Given the description of an element on the screen output the (x, y) to click on. 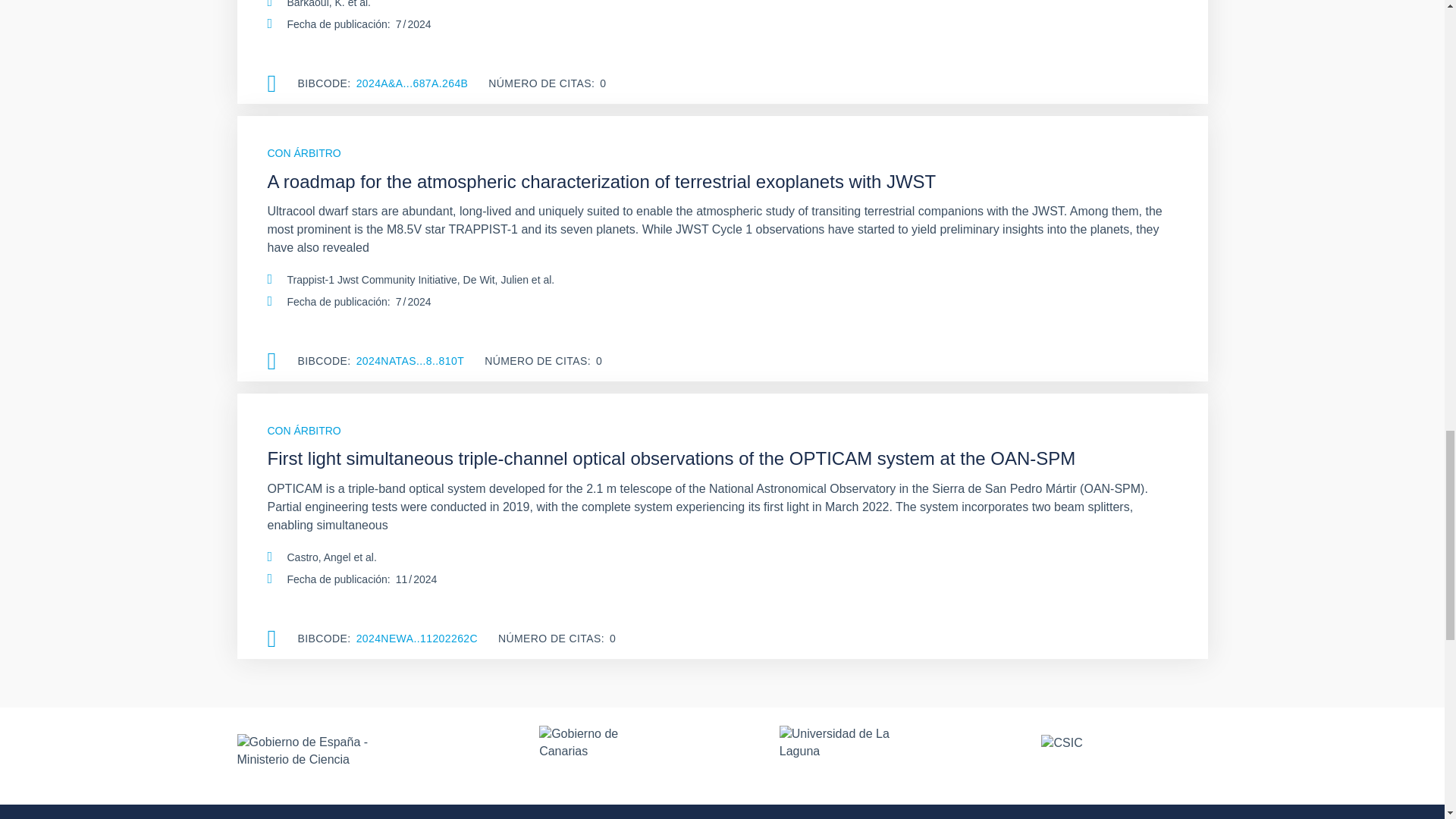
Gobierno de Canarias (591, 755)
Universidad de La Laguna (842, 755)
CSIC (1124, 755)
